Given the description of an element on the screen output the (x, y) to click on. 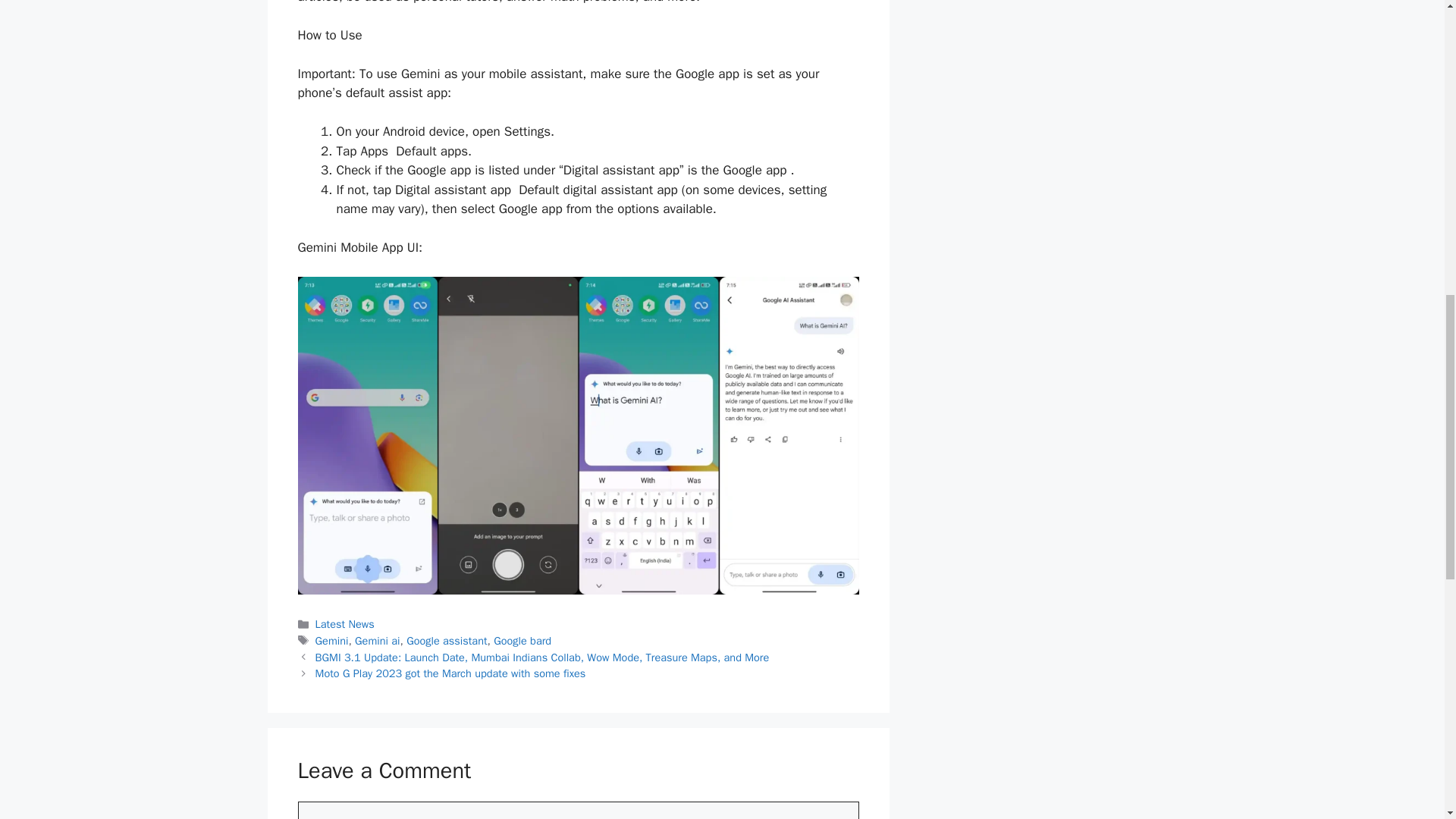
Gemini ai (376, 640)
Google assistant (446, 640)
Google bard (522, 640)
Latest News (344, 623)
Gemini (332, 640)
Moto G Play 2023 got the March update with some fixes (450, 673)
